Given the description of an element on the screen output the (x, y) to click on. 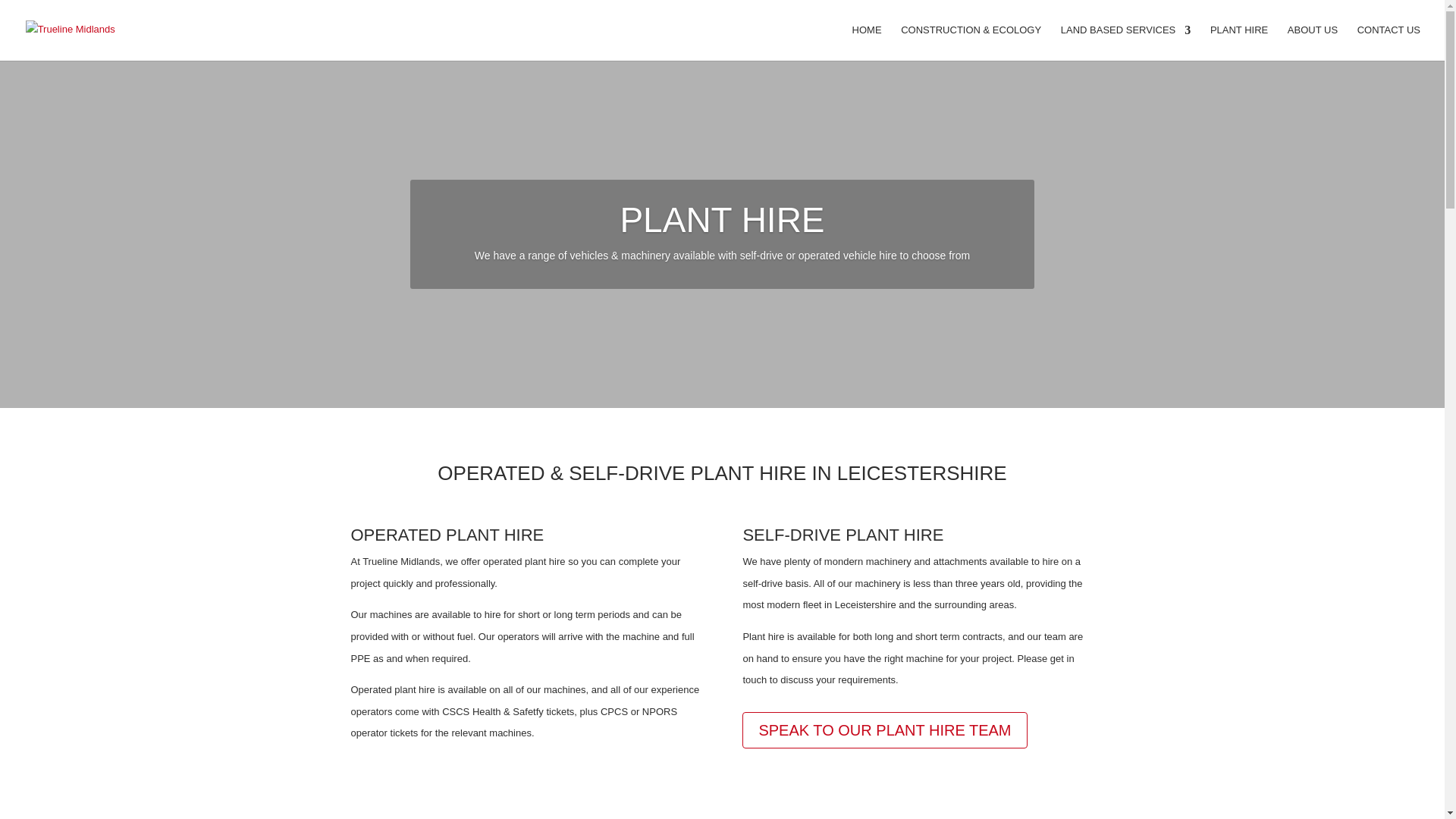
SPEAK TO OUR PLANT HIRE TEAM (884, 729)
CONTACT US (1388, 42)
HOME (866, 42)
LAND BASED SERVICES (1126, 42)
ABOUT US (1312, 42)
PLANT HIRE (1238, 42)
